Given the description of an element on the screen output the (x, y) to click on. 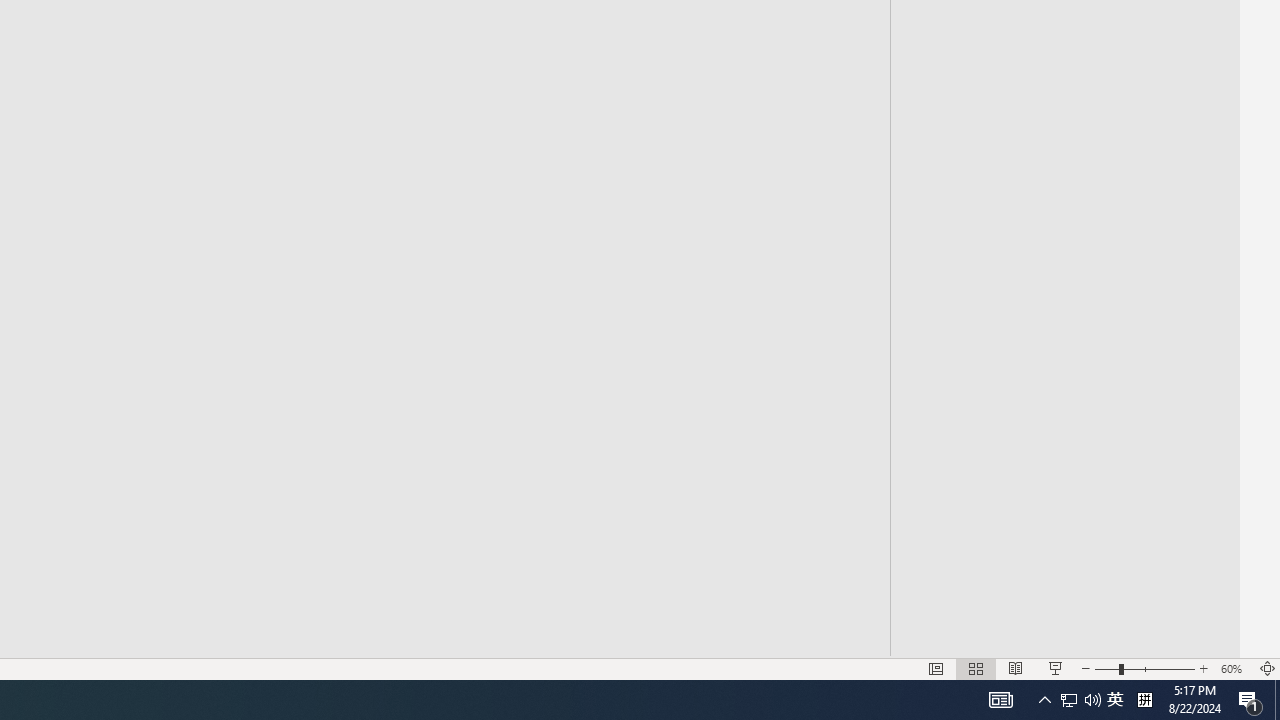
Zoom 60% (1234, 668)
